Given the description of an element on the screen output the (x, y) to click on. 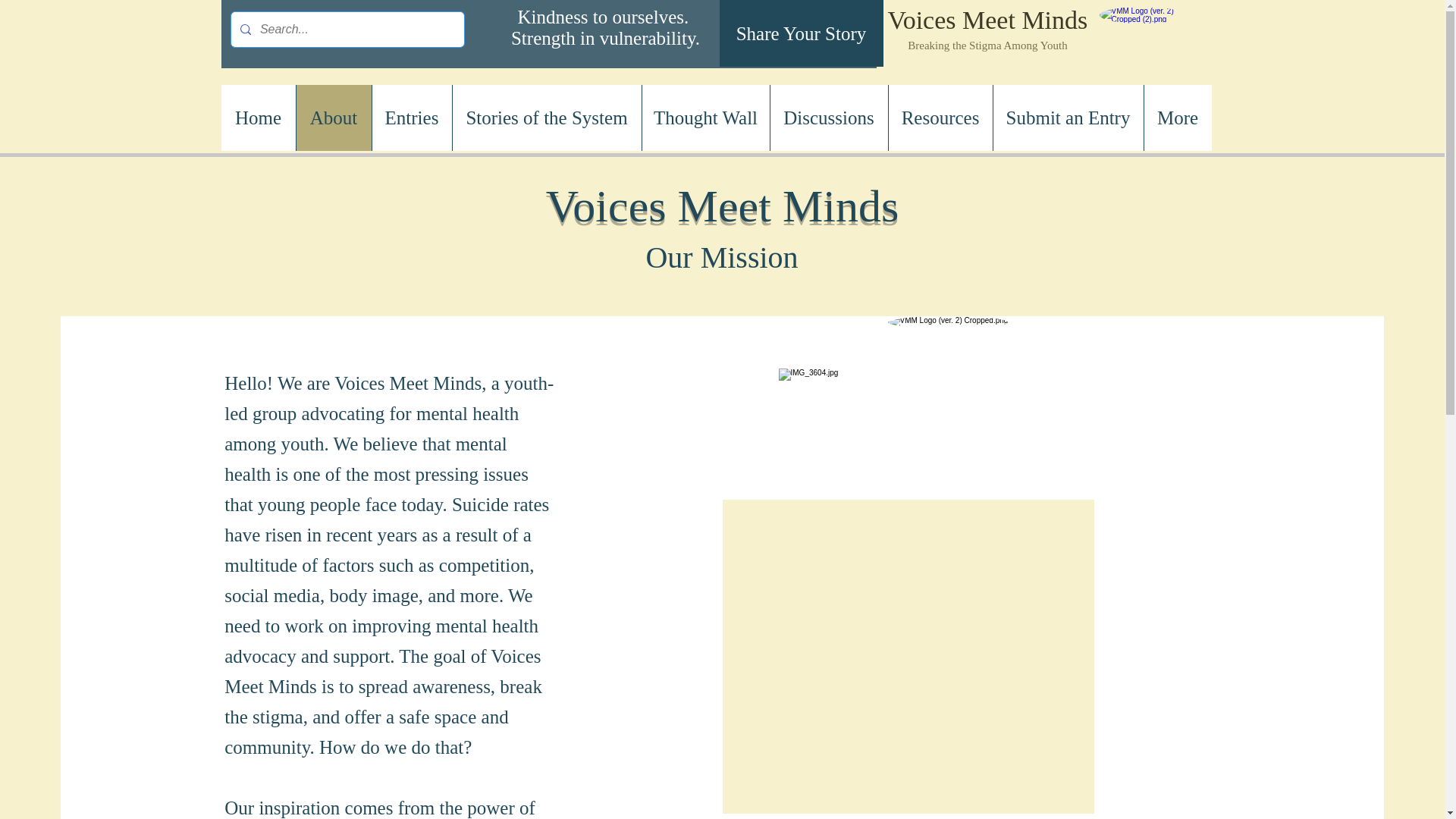
Voices Meet Minds (986, 19)
Discussions (827, 117)
About (333, 117)
Home (258, 117)
Entries (411, 117)
Submit an Entry (1066, 117)
Stories of the System (546, 117)
Share Your Story (800, 33)
Breaking the Stigma Among Youth (987, 45)
Resources (938, 117)
